Given the description of an element on the screen output the (x, y) to click on. 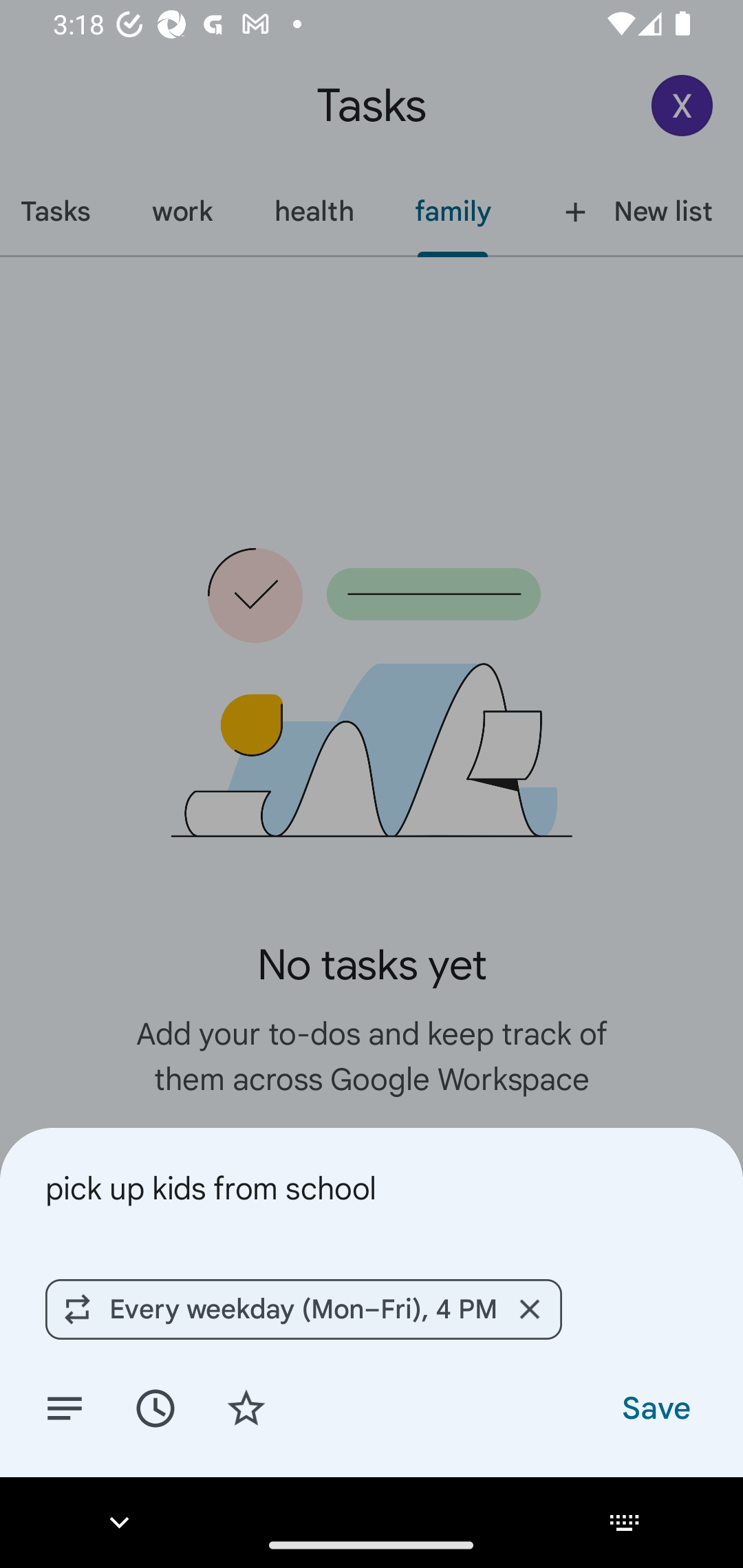
pick up kids from school (371, 1188)
Save (655, 1407)
Add details (64, 1407)
Set date/time (154, 1407)
Add star (245, 1407)
